Given the description of an element on the screen output the (x, y) to click on. 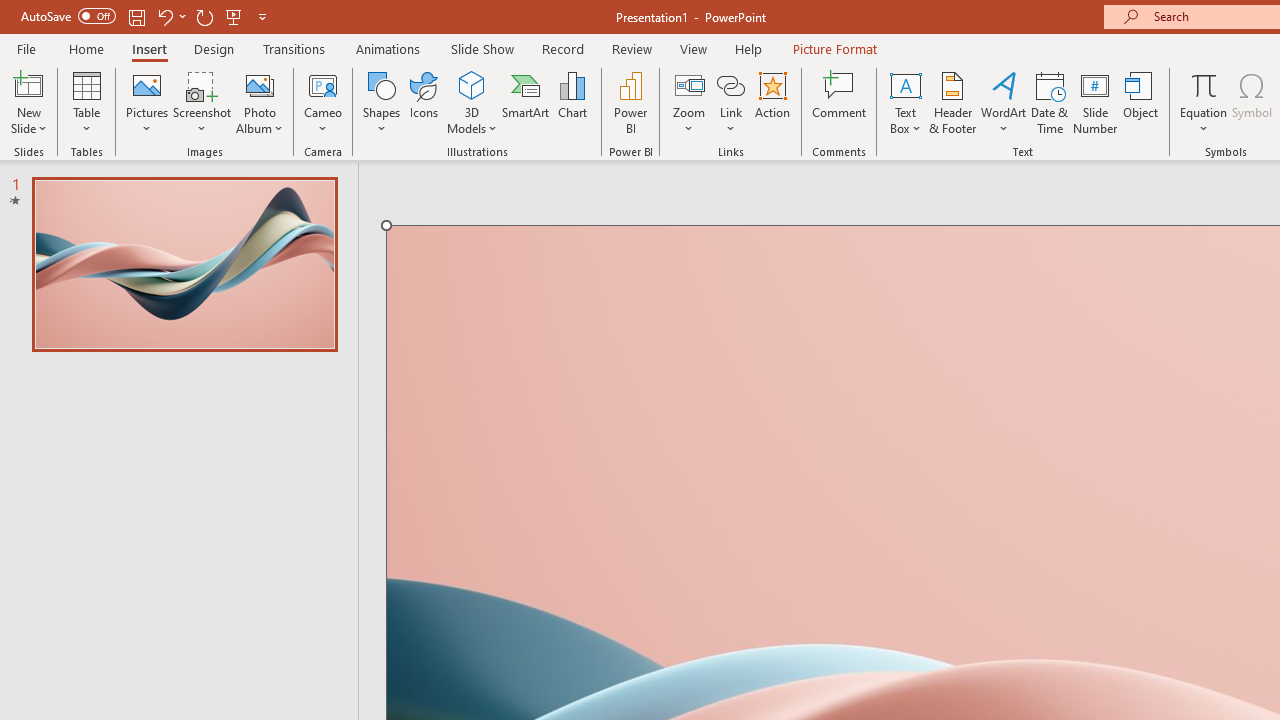
Draw Horizontal Text Box (905, 84)
Pictures (147, 102)
Date & Time... (1050, 102)
